Given the description of an element on the screen output the (x, y) to click on. 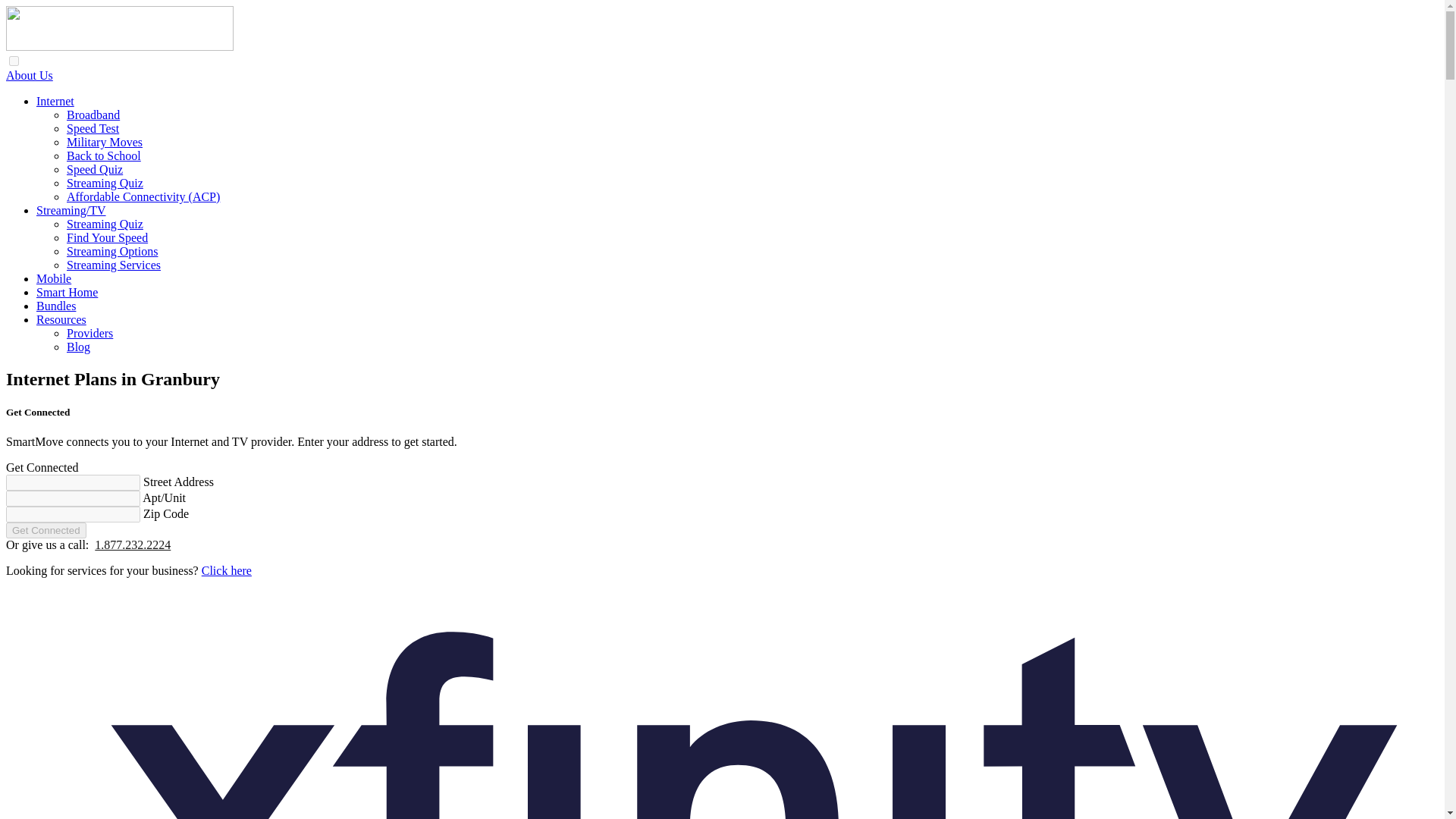
Find Your Speed (107, 237)
Providers (89, 332)
Streaming Options (111, 250)
Get Connected (45, 530)
Back to School (103, 155)
Broadband (92, 114)
Click here (226, 570)
Mobile (53, 278)
Streaming Quiz (104, 182)
Get Connected (45, 530)
on (13, 61)
1.877.232.2224 (132, 544)
Internet (55, 101)
Blog (78, 346)
Smart Home (66, 291)
